Given the description of an element on the screen output the (x, y) to click on. 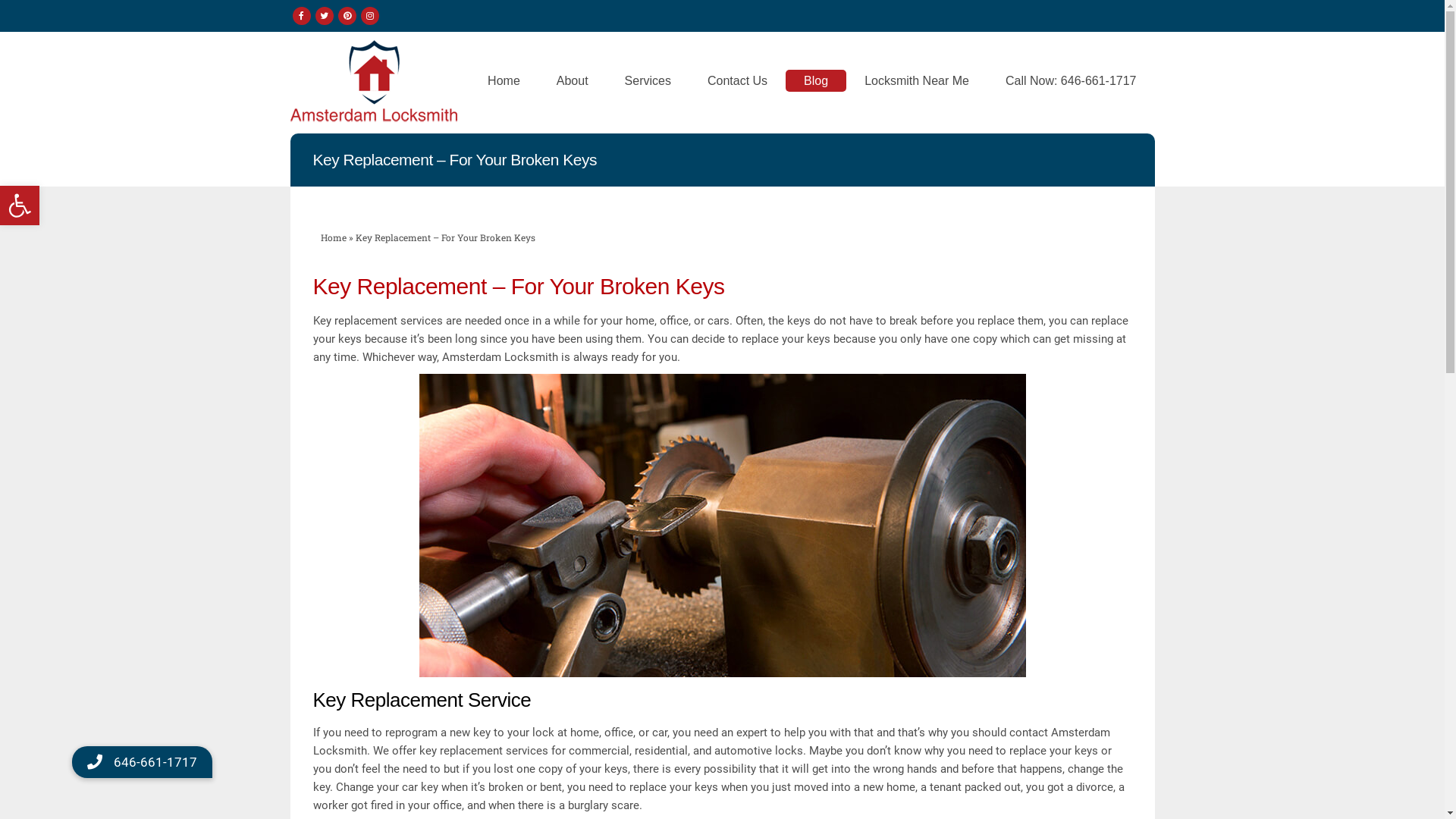
Open toolbar
Accessibility Tools Element type: text (19, 205)
Facebook Element type: text (301, 15)
Services Element type: text (647, 80)
About Element type: text (572, 80)
Call Now: 646-661-1717 Element type: text (1070, 80)
Home Element type: text (332, 237)
Instagram Element type: text (369, 15)
Locksmith Near Me Element type: text (916, 80)
Home Element type: text (503, 80)
646-661-1717 Element type: text (142, 762)
Blog Element type: text (815, 80)
Twitter Element type: text (324, 15)
Pinterest Element type: text (347, 15)
Contact Us Element type: text (737, 80)
